Given the description of an element on the screen output the (x, y) to click on. 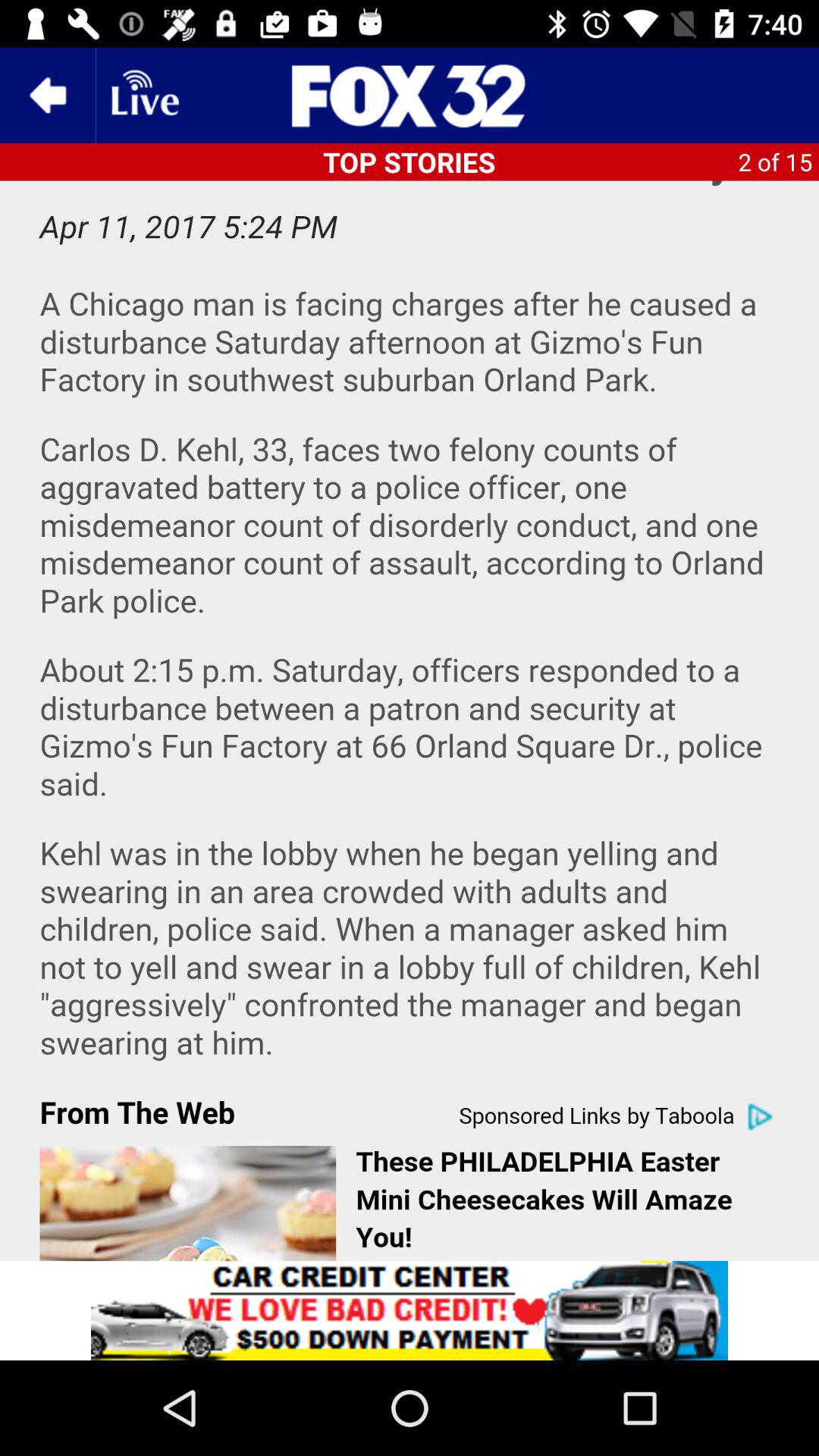
live button (143, 95)
